Given the description of an element on the screen output the (x, y) to click on. 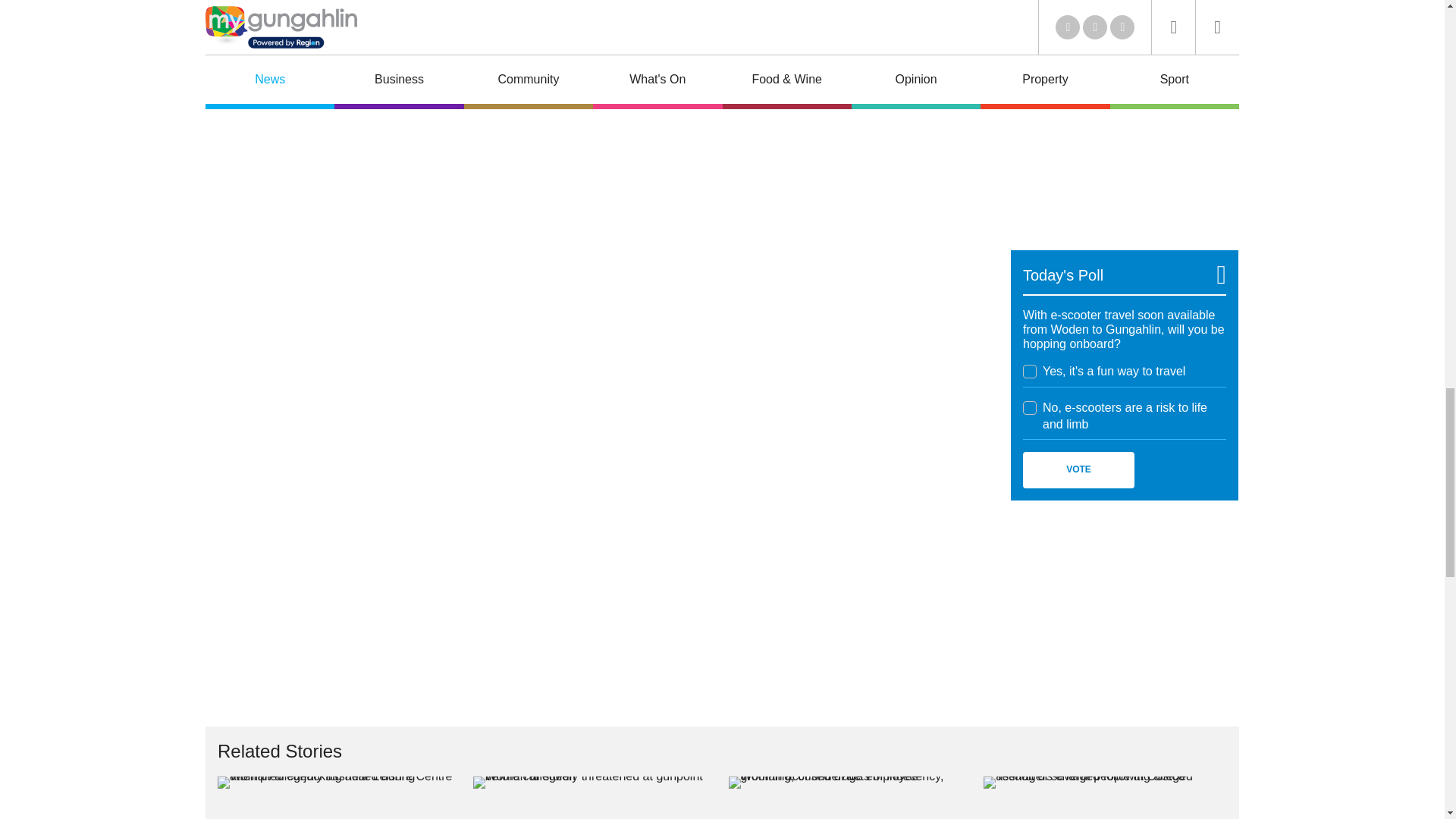
   Vote    (1078, 470)
Zango Sales (1124, 131)
1 (1029, 371)
2 (1029, 407)
